Given the description of an element on the screen output the (x, y) to click on. 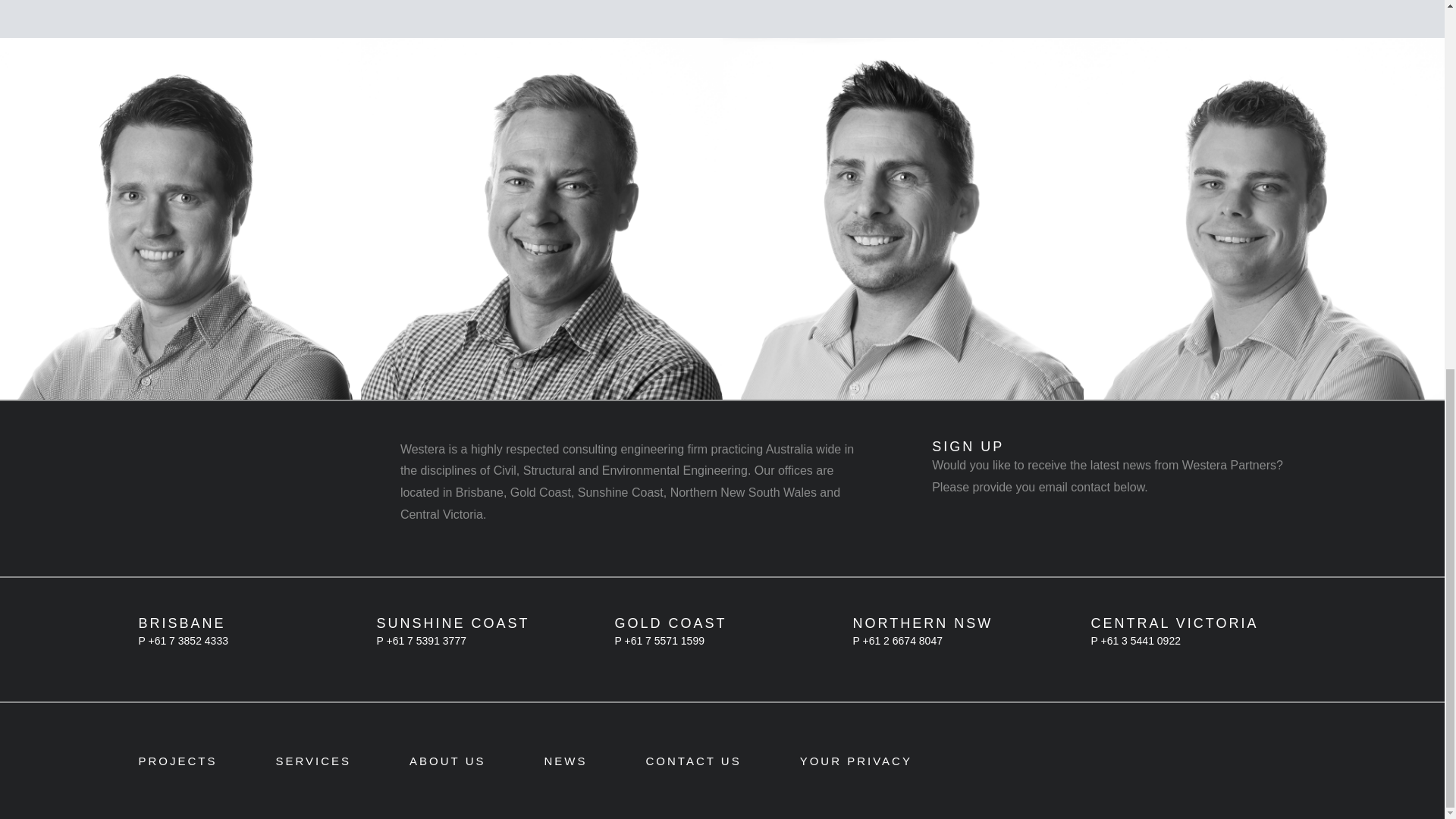
CONTACT US (693, 760)
NEWS (566, 760)
YOUR PRIVACY (855, 760)
ABOUT US (446, 760)
SERVICES (314, 760)
PROJECTS (177, 760)
